Given the description of an element on the screen output the (x, y) to click on. 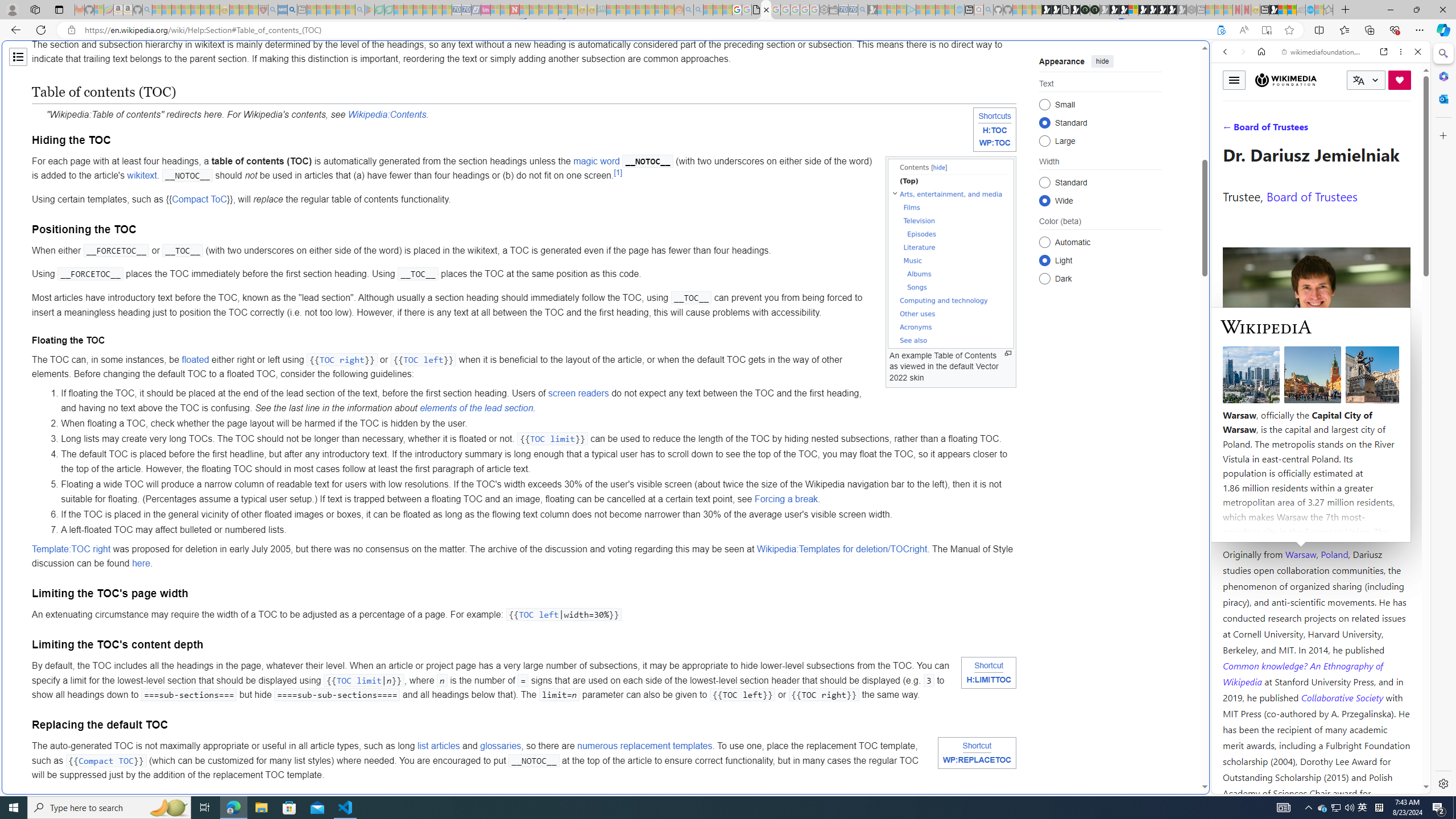
Shortcut (976, 745)
Large (1044, 140)
H:TOC (994, 130)
Forward (1242, 51)
google - Search - Sleeping (359, 9)
Terms of Use Agreement - Sleeping (378, 9)
